Given the description of an element on the screen output the (x, y) to click on. 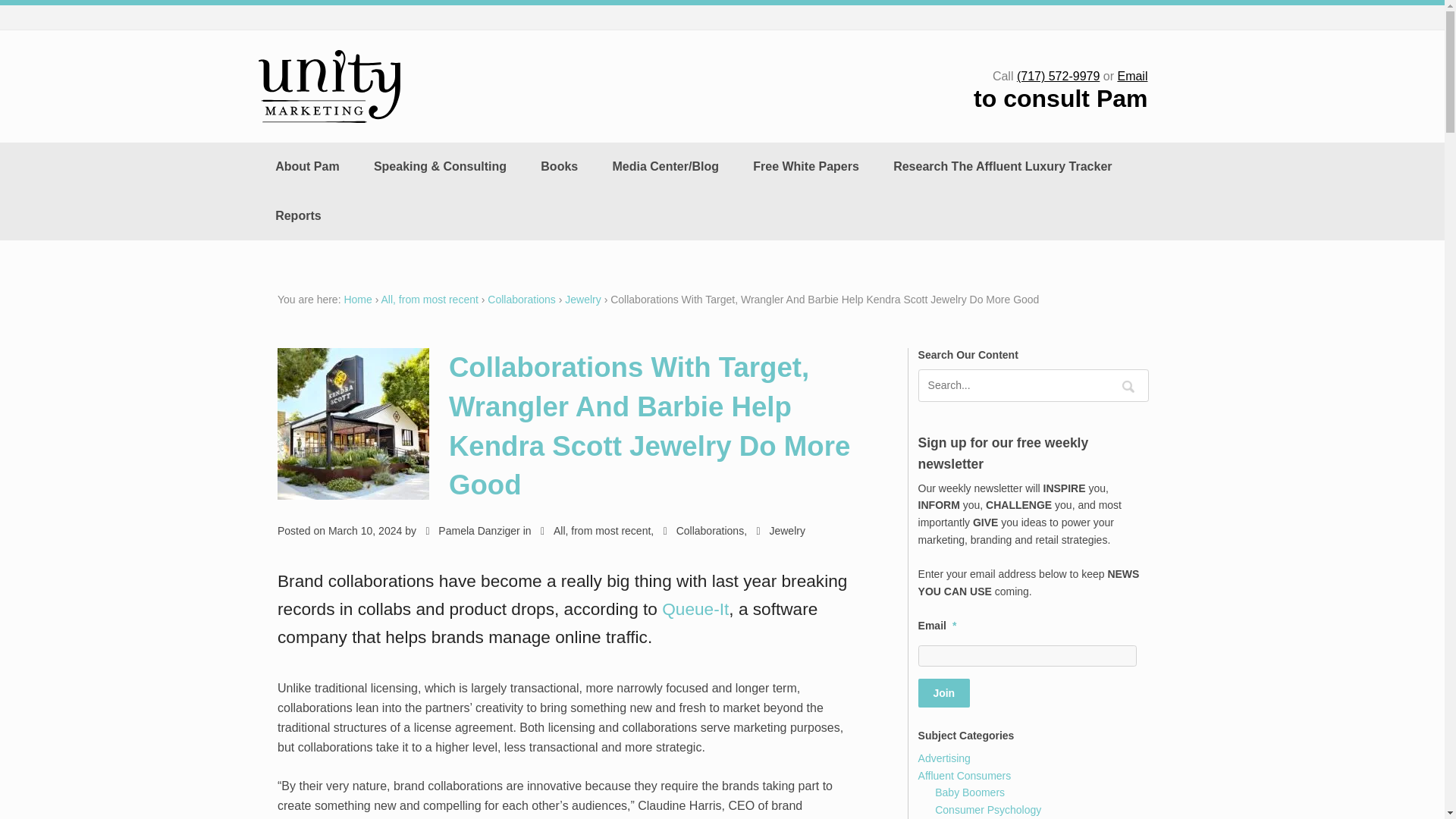
About Pam (307, 166)
Search (1128, 386)
Free White Papers (806, 166)
All, from most recent (595, 530)
Posts by Pamela Danziger (473, 530)
Reports (299, 214)
Queue-It (695, 608)
Jewelry (781, 530)
Pamela Danziger (473, 530)
Books (559, 166)
Home (357, 299)
Collaborations (703, 530)
Join (943, 693)
Email (1131, 75)
Search (1128, 386)
